Given the description of an element on the screen output the (x, y) to click on. 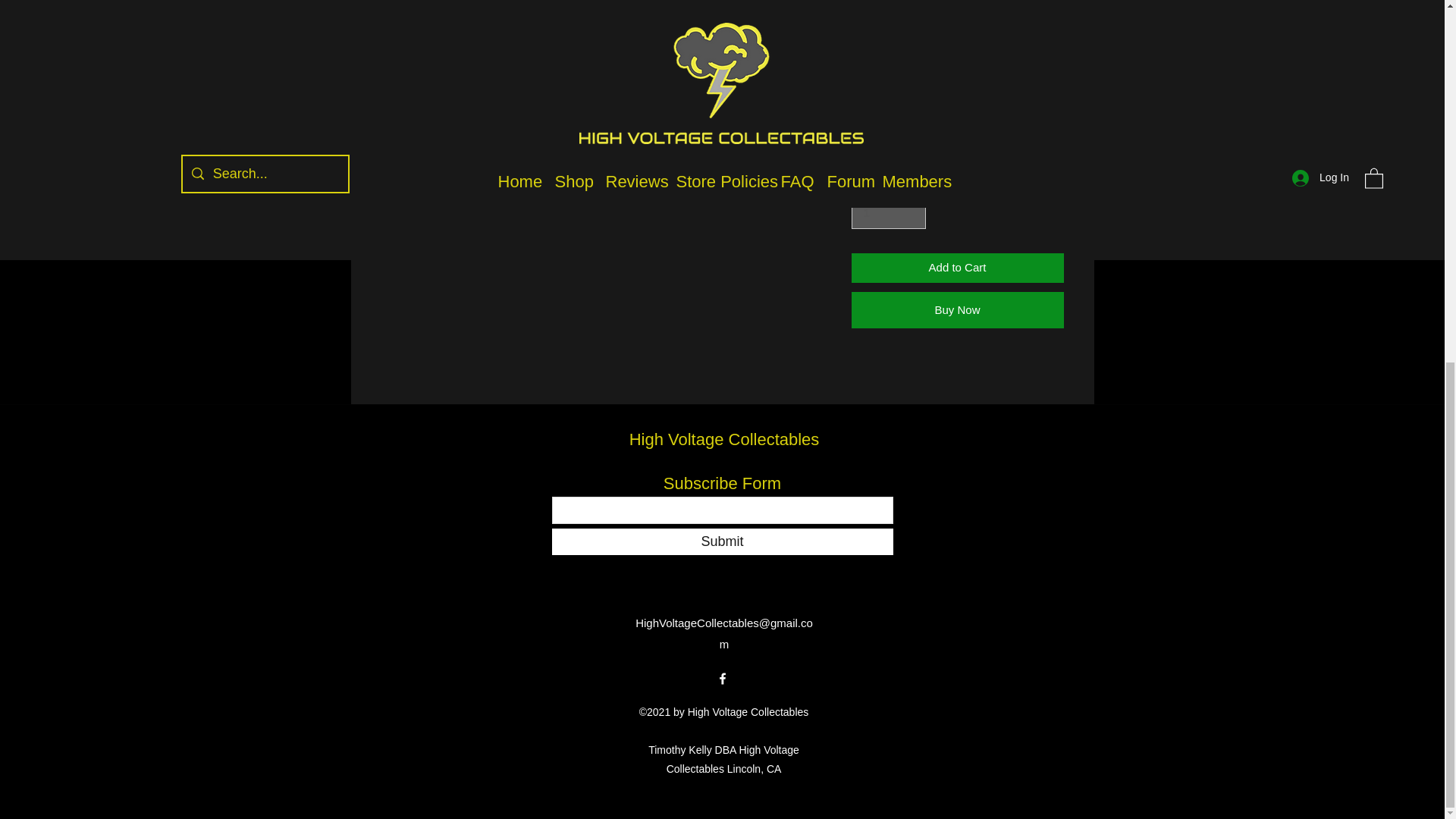
Add to Cart (956, 267)
Buy Now (956, 309)
1 (887, 213)
High Voltage Collectables (723, 438)
Submit (722, 541)
